Given the description of an element on the screen output the (x, y) to click on. 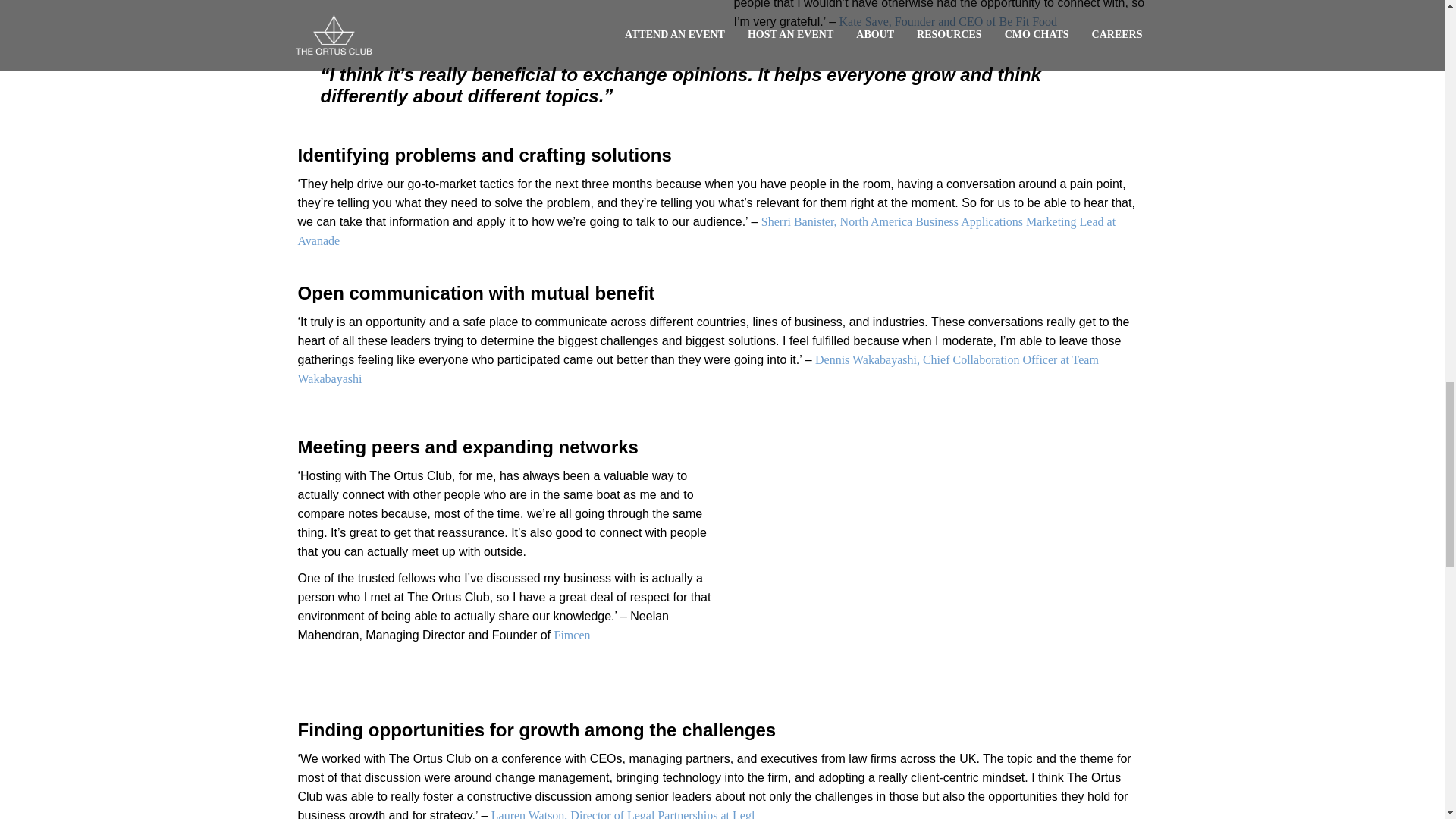
Kate Save, Founder and CEO of Be Fit Food (949, 21)
Fimcen (571, 634)
Lauren Watson, Director of Legal Partnerships at Legl (623, 814)
